Given the description of an element on the screen output the (x, y) to click on. 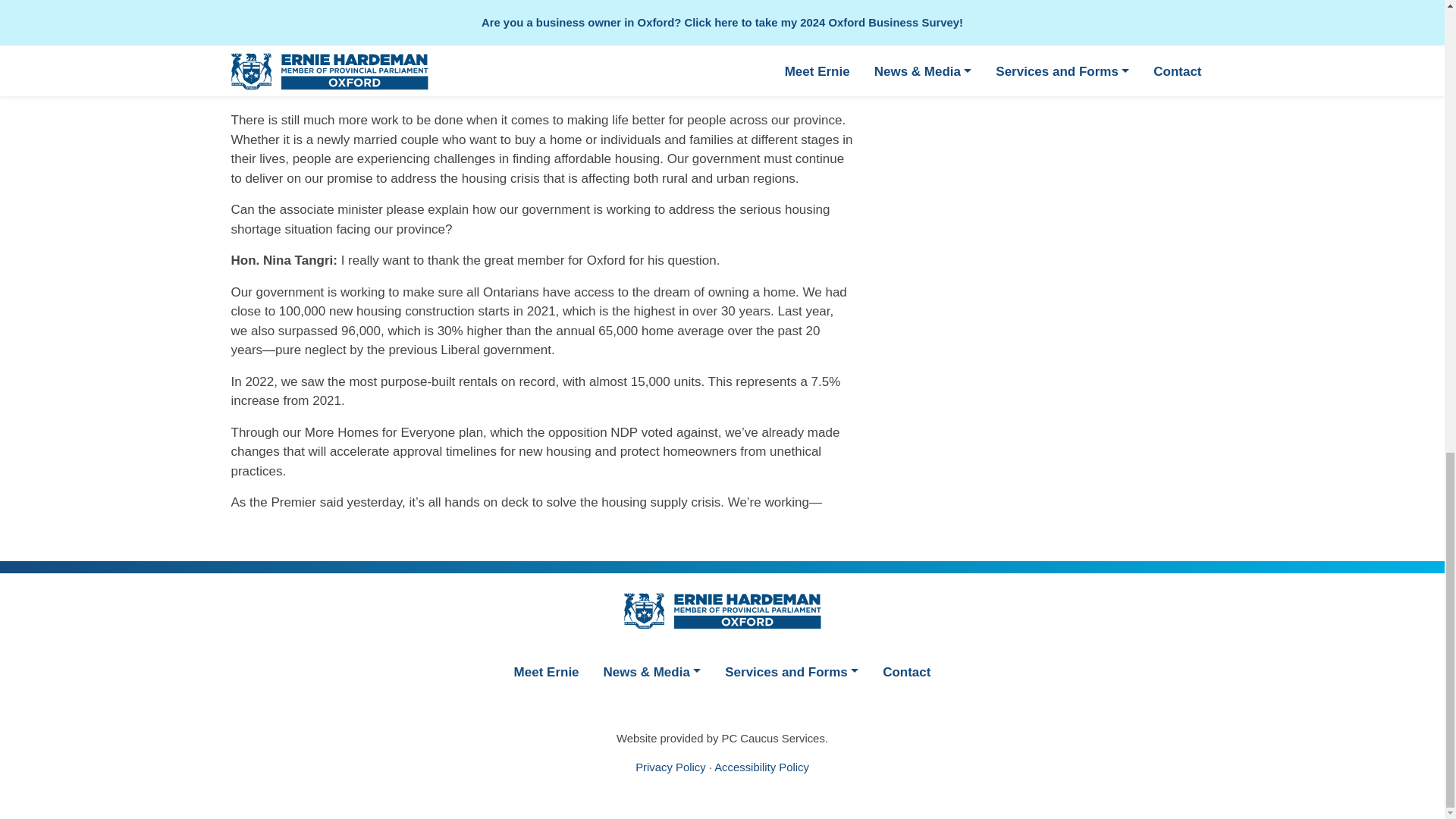
Contact (906, 670)
Accessibility Policy (761, 767)
Meet Ernie (546, 670)
Privacy Policy (669, 767)
Services and Forms (791, 670)
